Given the description of an element on the screen output the (x, y) to click on. 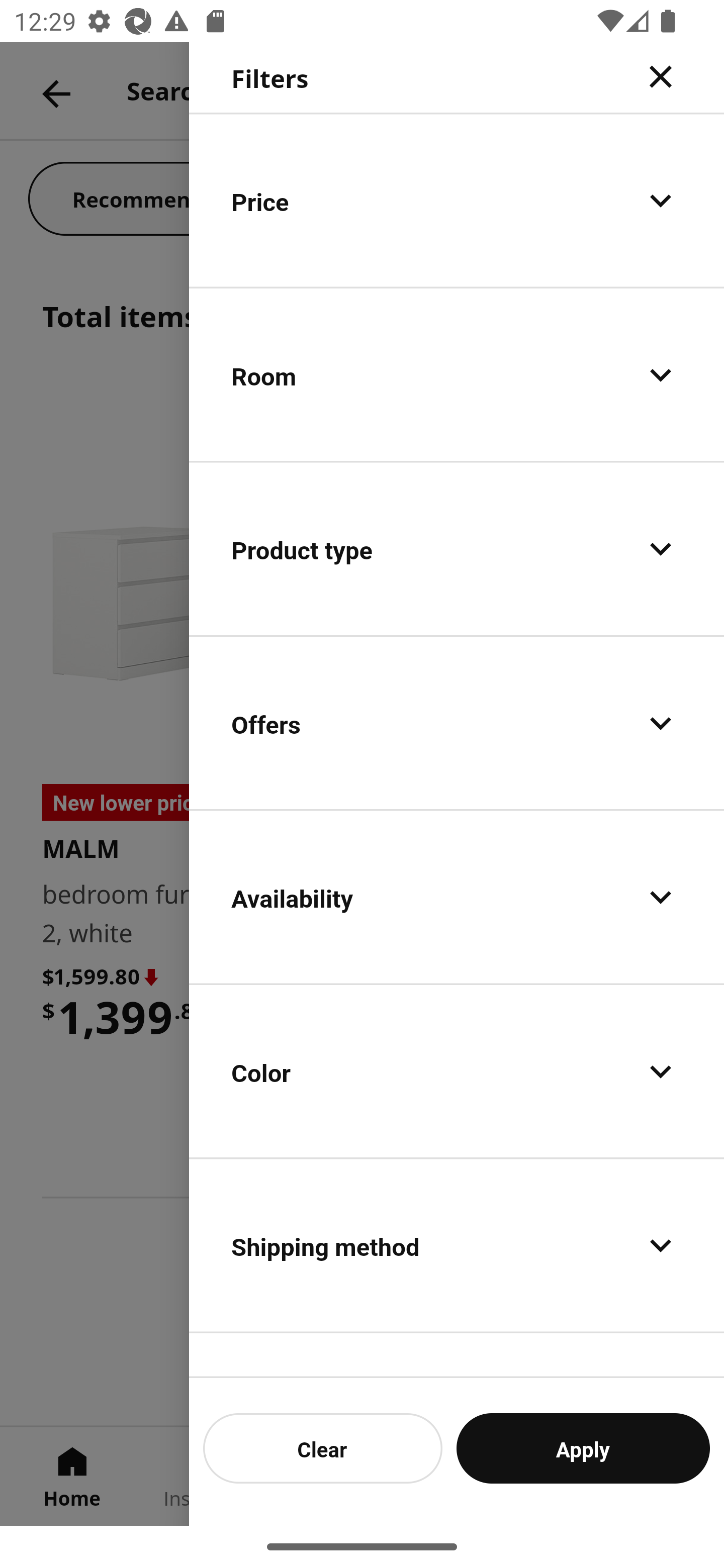
Price (456, 200)
Room (456, 374)
Product type (456, 548)
Offers (456, 722)
Availability (456, 896)
Color (456, 1070)
Shipping method (456, 1244)
Clear (322, 1447)
Apply (583, 1447)
